Given the description of an element on the screen output the (x, y) to click on. 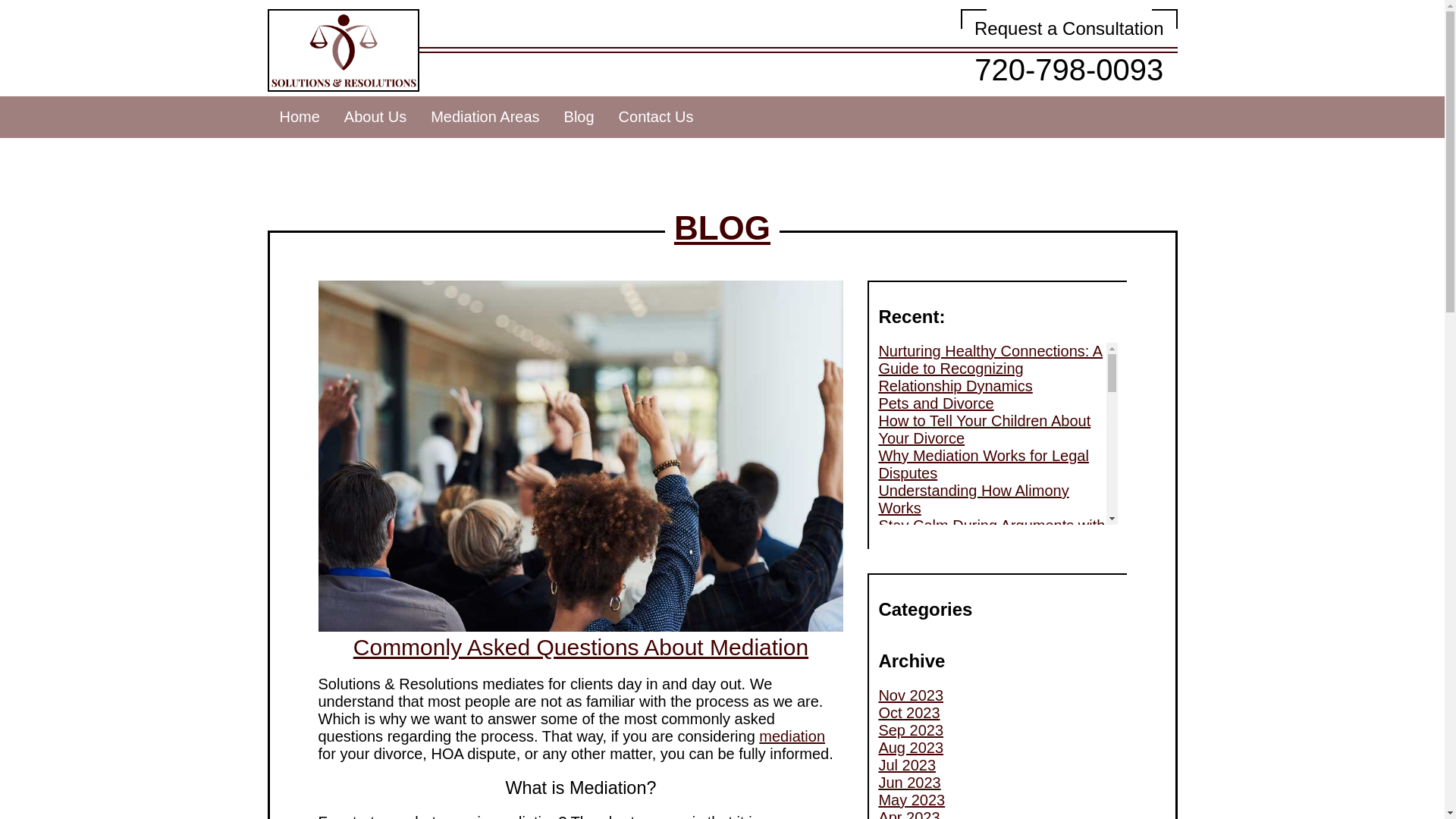
What to Look for In a Mediator (979, 804)
Oct 2023 (1068, 52)
BLOG (908, 712)
How to Tell Your Children About Your Divorce (722, 227)
Mediation Areas (983, 429)
Preparing for Divorce (485, 117)
Home (949, 699)
Sep 2023 (298, 117)
Jun 2023 (910, 729)
